Given the description of an element on the screen output the (x, y) to click on. 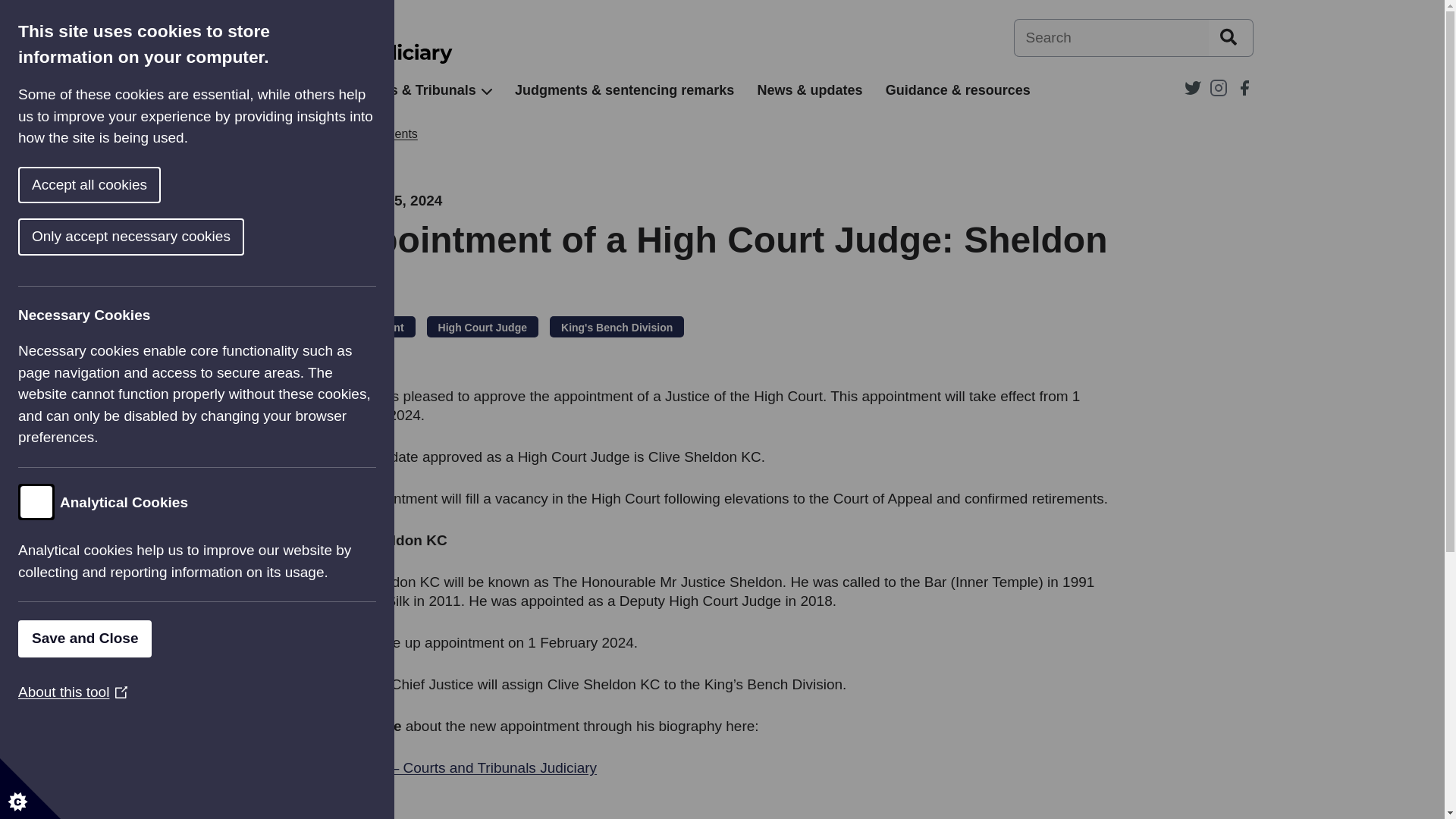
About the judiciary (252, 90)
Skip to main content (11, 7)
